Given the description of an element on the screen output the (x, y) to click on. 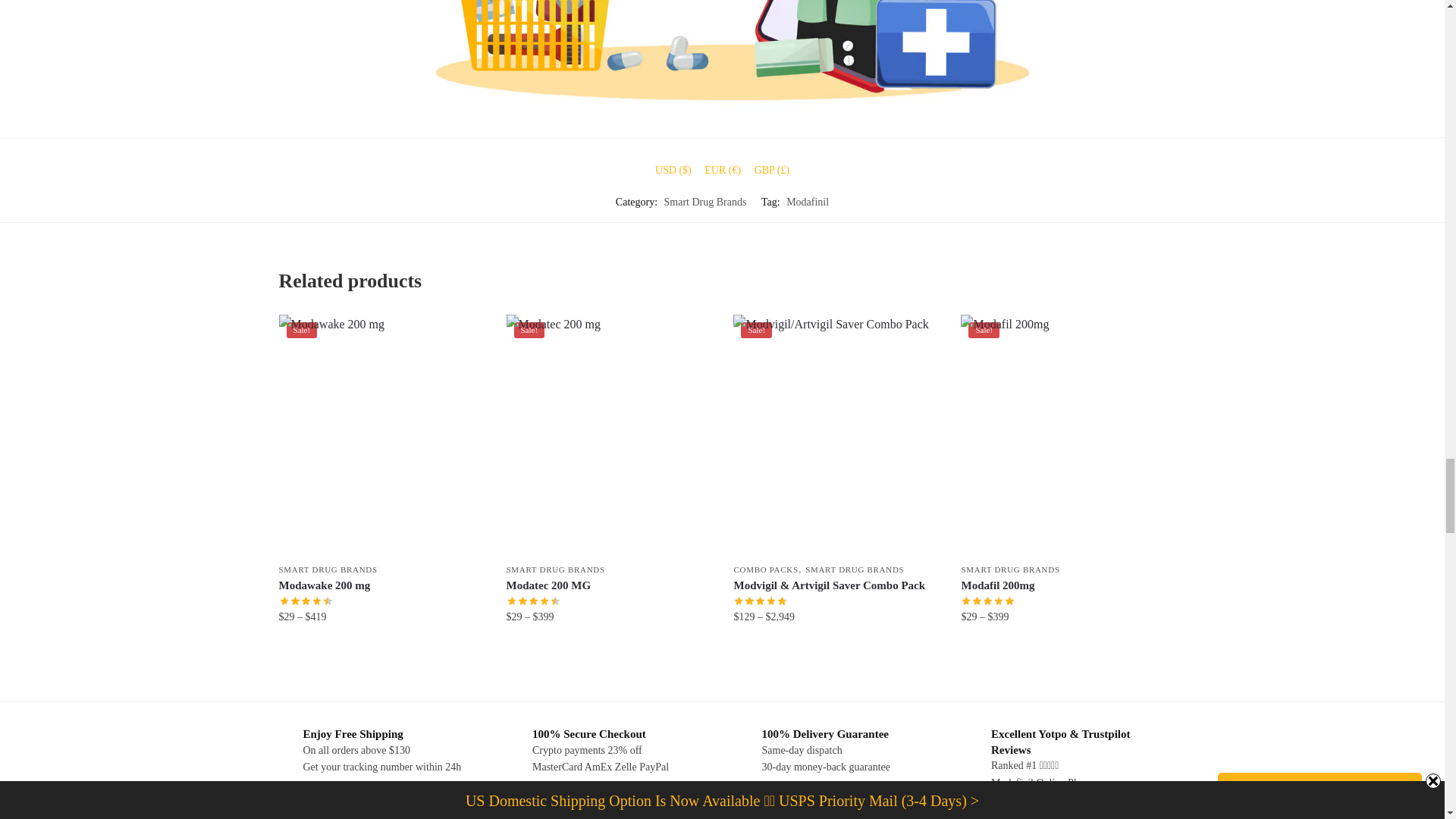
Rated 4.5 out of 5 (306, 601)
Rated 4.5 out of 5 (533, 601)
Rated 5 out of 5 (987, 601)
Rated 4.6875 out of 5 (760, 601)
TOP-1 Modafinil Online Pharmacy (722, 57)
